Given the description of an element on the screen output the (x, y) to click on. 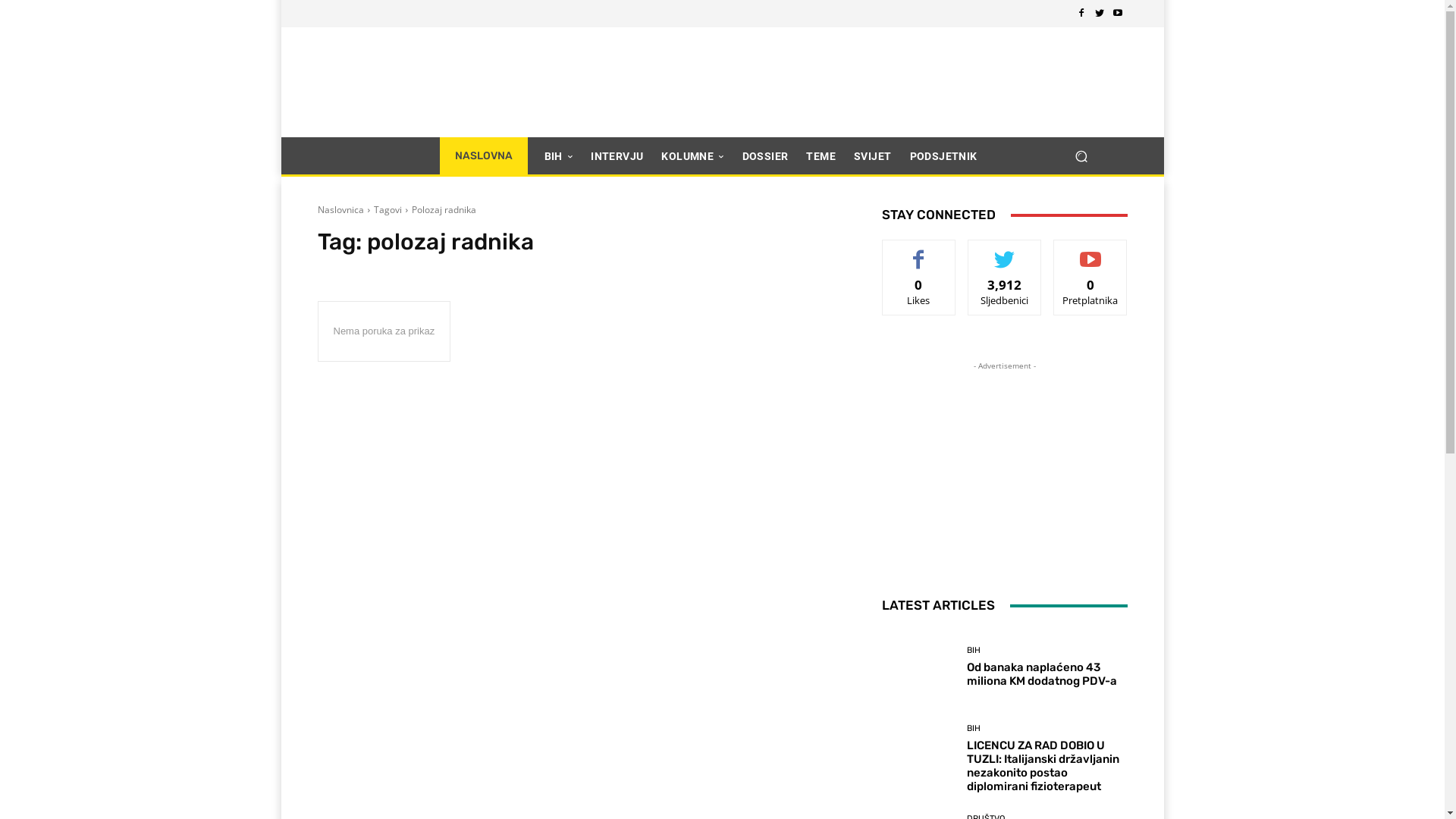
Facebook Element type: hover (1081, 13)
Youtube Element type: hover (1117, 13)
TEME Element type: text (820, 156)
SVIJET Element type: text (872, 156)
BIH Element type: text (973, 650)
INTERVJU Element type: text (616, 156)
Twitter Element type: hover (1099, 13)
BIH Element type: text (973, 728)
KOLUMNE Element type: text (692, 156)
NASLOVNA Element type: text (483, 155)
PODSJETNIK Element type: text (943, 156)
Naslovnica Element type: text (339, 209)
BIH Element type: text (558, 156)
DOSSIER Element type: text (765, 156)
